Given the description of an element on the screen output the (x, y) to click on. 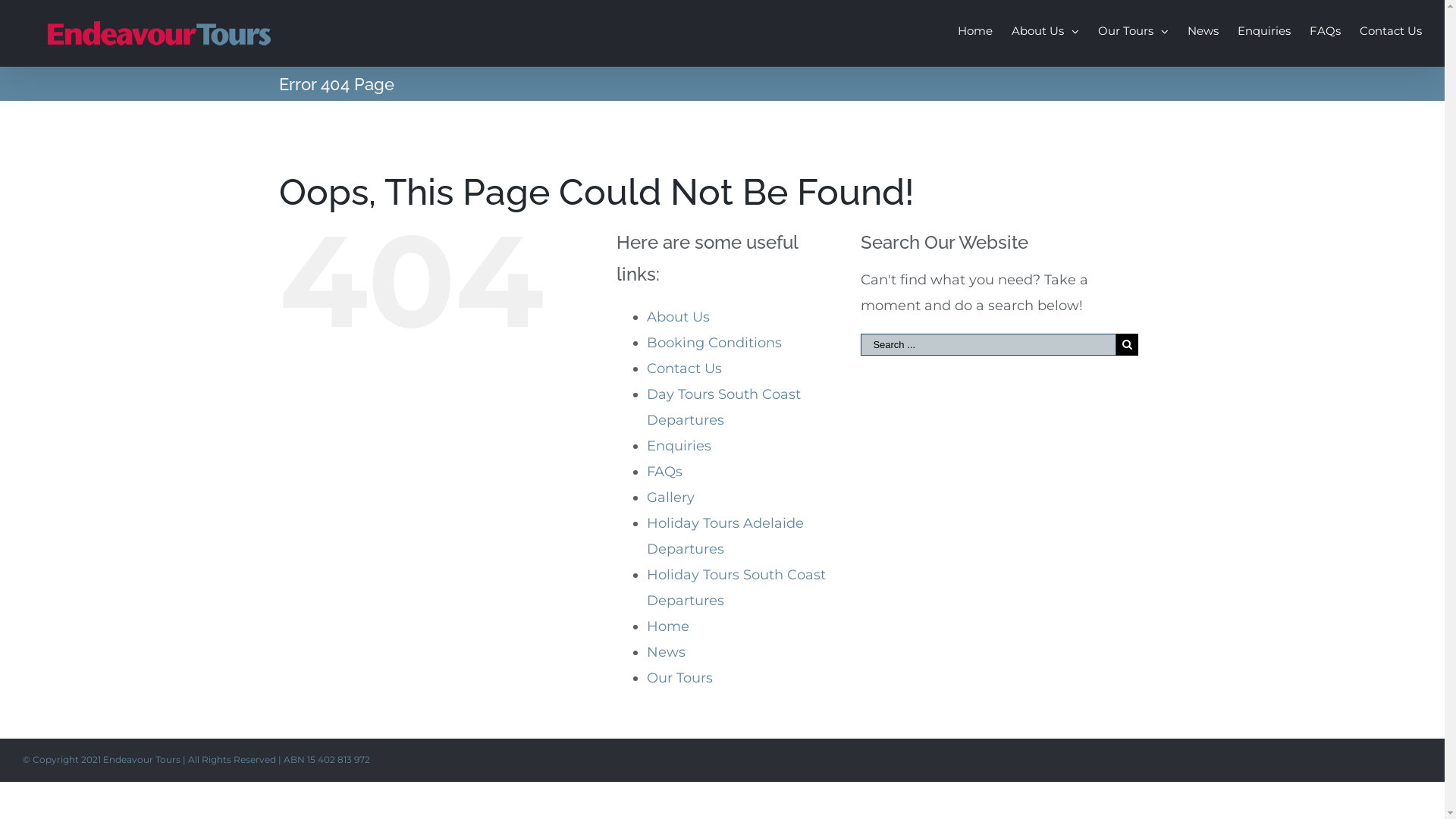
About Us Element type: text (1045, 29)
Booking Conditions Element type: text (713, 342)
News Element type: text (1202, 29)
Enquiries Element type: text (678, 445)
FAQs Element type: text (663, 471)
Our Tours Element type: text (679, 677)
Enquiries Element type: text (1263, 29)
Gallery Element type: text (669, 497)
Home Element type: text (667, 626)
Contact Us Element type: text (683, 368)
Day Tours South Coast Departures Element type: text (723, 406)
News Element type: text (665, 651)
Holiday Tours Adelaide Departures Element type: text (724, 535)
Contact Us Element type: text (1390, 29)
About Us Element type: text (677, 316)
Our Tours Element type: text (1133, 29)
Home Element type: text (974, 29)
Holiday Tours South Coast Departures Element type: text (735, 587)
FAQs Element type: text (1324, 29)
